Given the description of an element on the screen output the (x, y) to click on. 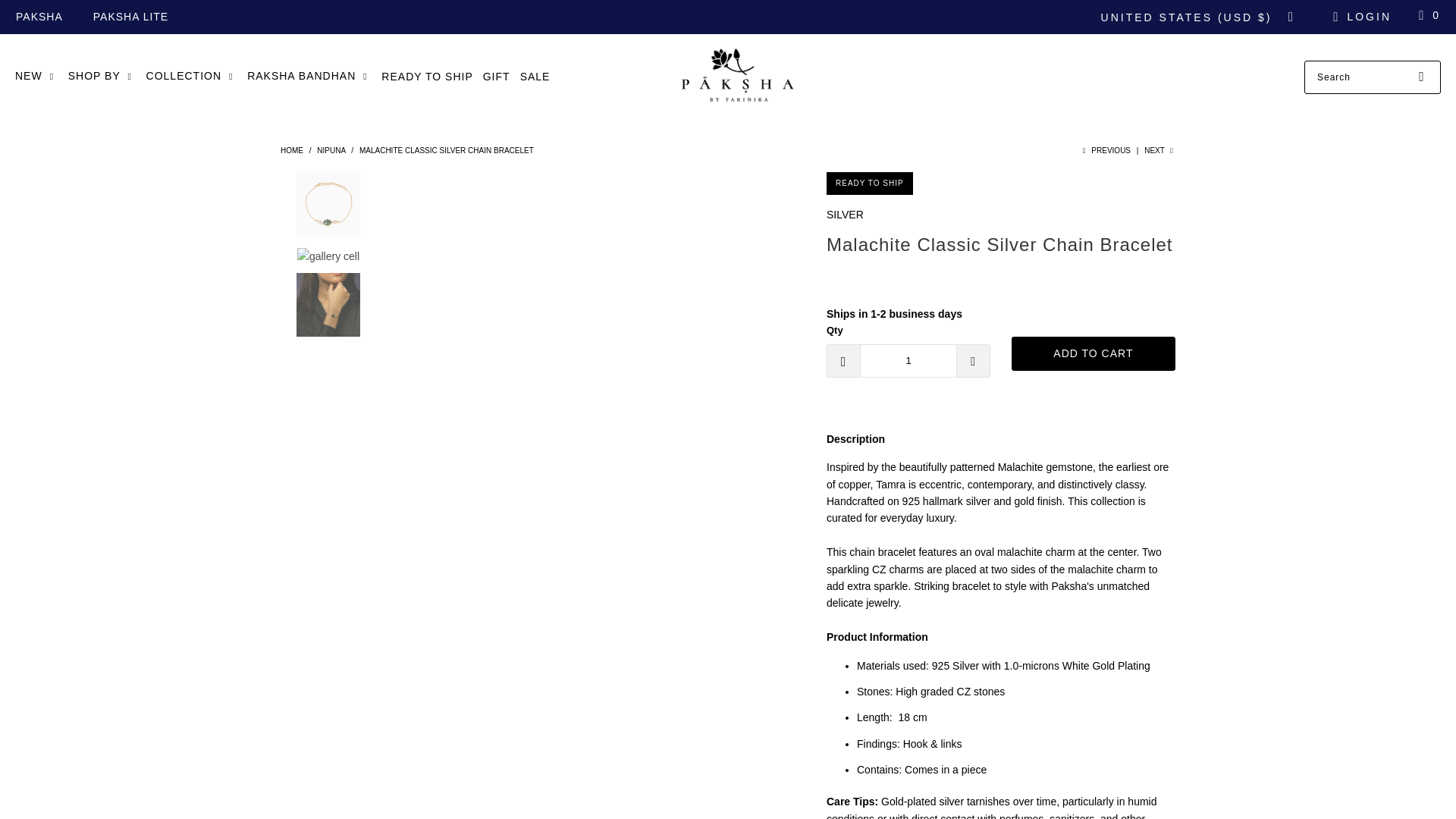
Previous (1104, 150)
My Account  (1359, 16)
Next (1159, 150)
Nipuna (331, 150)
1 (908, 360)
Paksha (291, 150)
Paksha (734, 77)
